Given the description of an element on the screen output the (x, y) to click on. 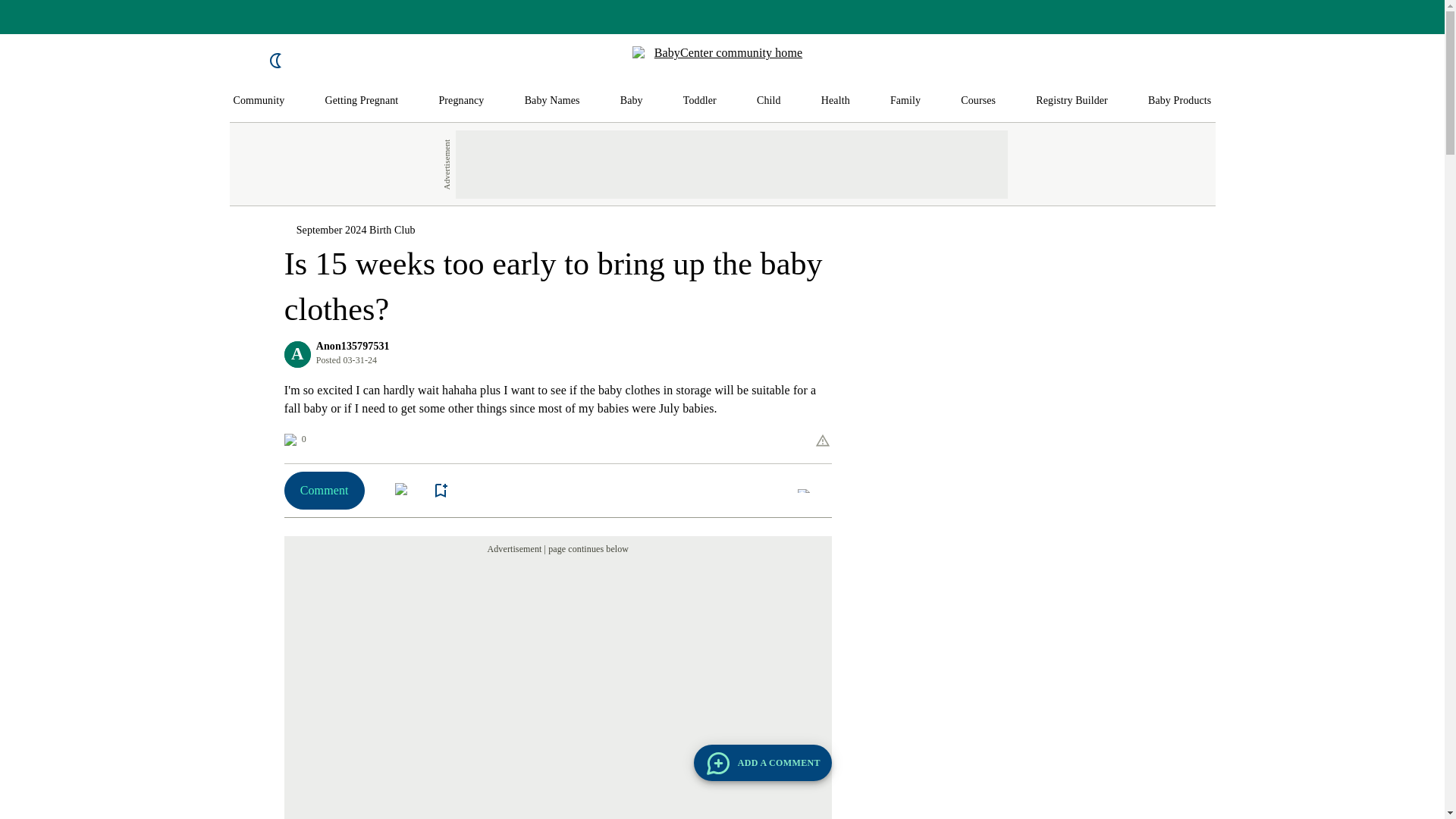
Health (835, 101)
Baby Products (1179, 101)
Child (768, 101)
Pregnancy (460, 101)
Toddler (699, 101)
Courses (977, 101)
Community (258, 101)
Baby (631, 101)
Getting Pregnant (360, 101)
Registry Builder (1071, 101)
